Given the description of an element on the screen output the (x, y) to click on. 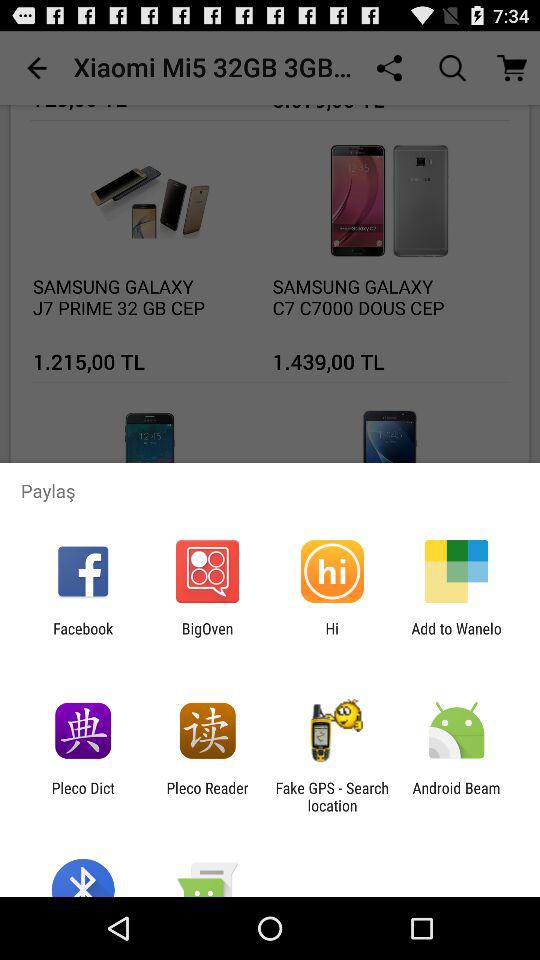
flip to facebook icon (83, 637)
